Given the description of an element on the screen output the (x, y) to click on. 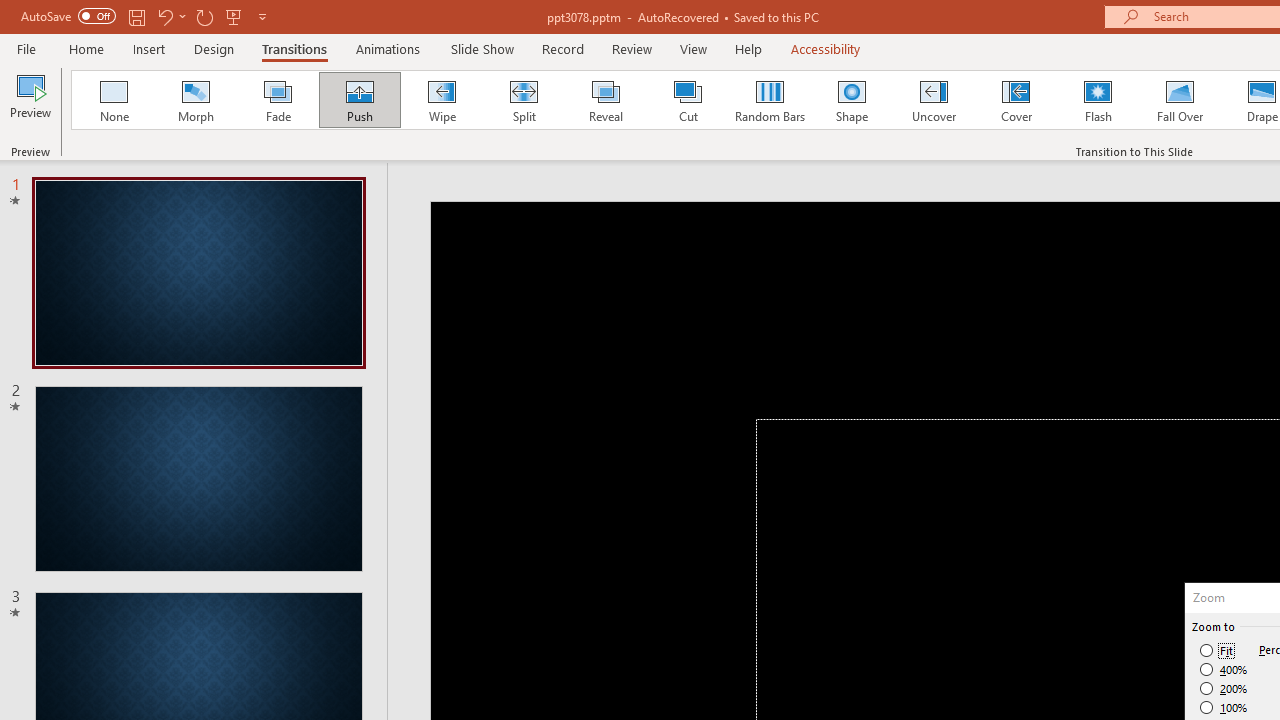
200% (1224, 688)
Split (523, 100)
100% (1224, 707)
Reveal (605, 100)
Cover (1016, 100)
Push (359, 100)
Fall Over (1180, 100)
None (113, 100)
Morph (195, 100)
